Given the description of an element on the screen output the (x, y) to click on. 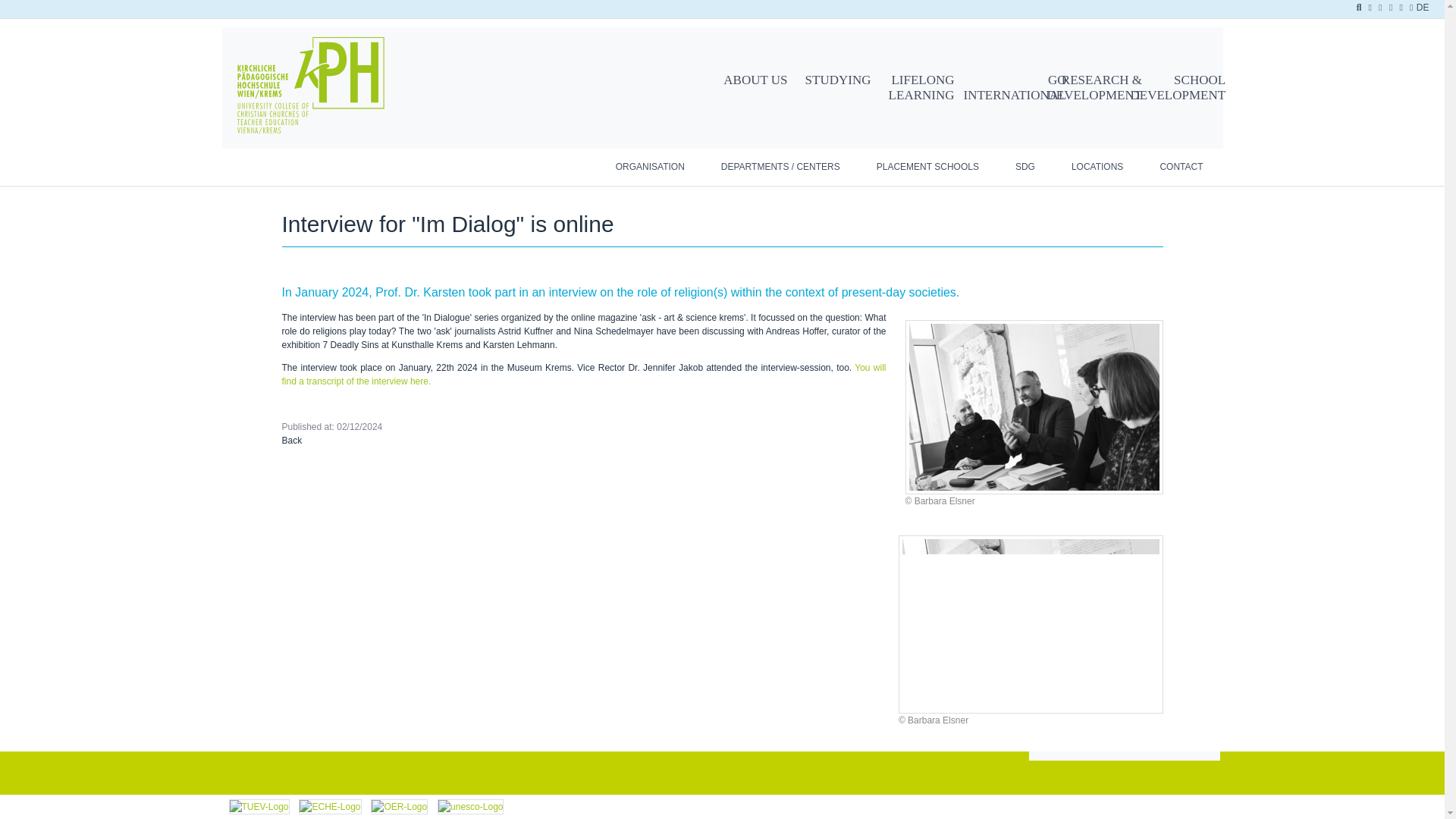
Go International (1000, 87)
SCHOOL DEVELOPMENT (1168, 87)
Studying (833, 79)
About us (749, 79)
STUDYING (833, 79)
instagram  kph (1392, 7)
linkedin kph (1370, 7)
GO INTERNATIONAL (1000, 87)
ABOUT US (749, 79)
Lifelong learning (916, 87)
facebook kph (1381, 7)
ORGANISATION (649, 166)
PLACEMENT SCHOOLS (928, 166)
German (1423, 9)
LIFELONG LEARNING (916, 87)
